Given the description of an element on the screen output the (x, y) to click on. 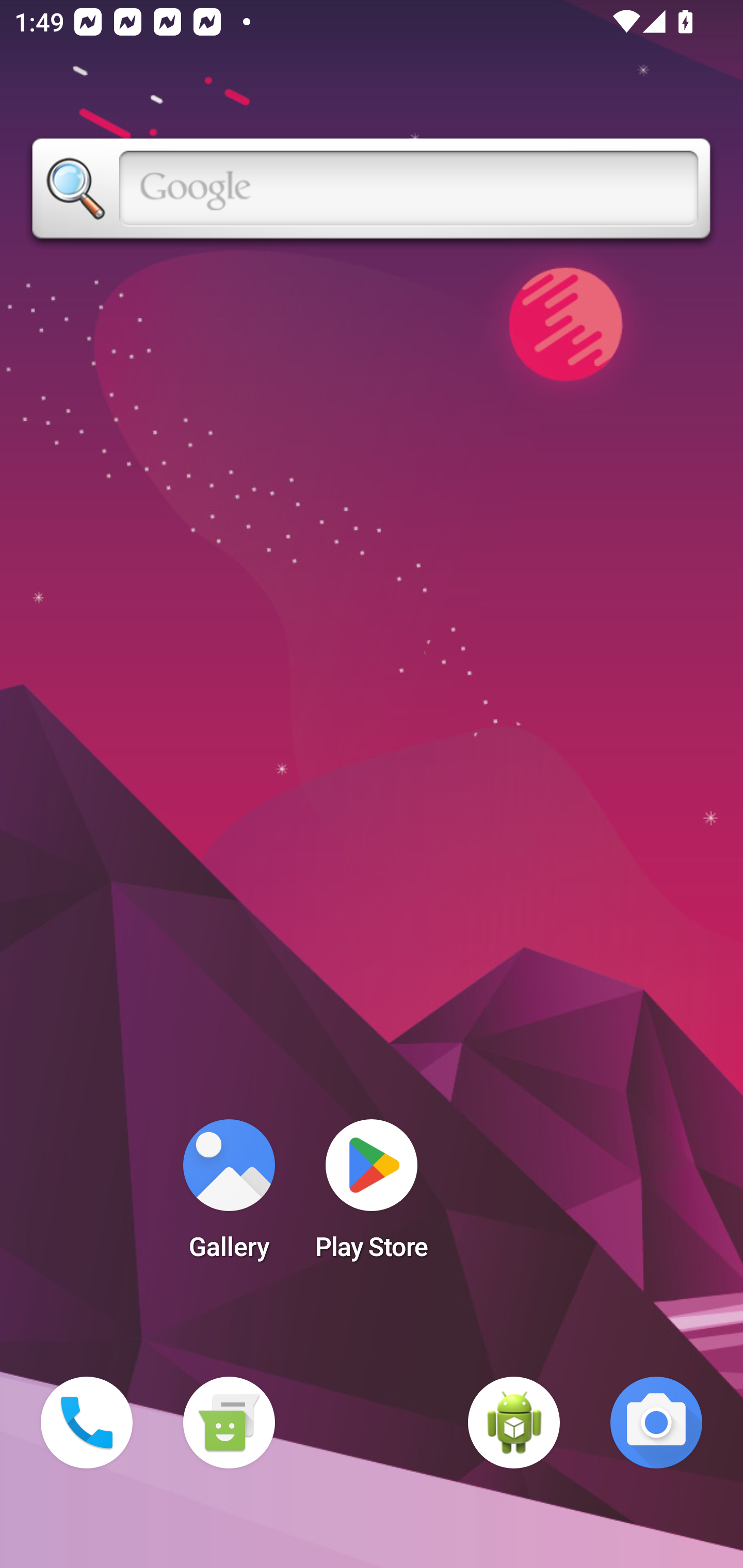
Gallery (228, 1195)
Play Store (371, 1195)
Phone (86, 1422)
Messaging (228, 1422)
WebView Browser Tester (513, 1422)
Camera (656, 1422)
